Given the description of an element on the screen output the (x, y) to click on. 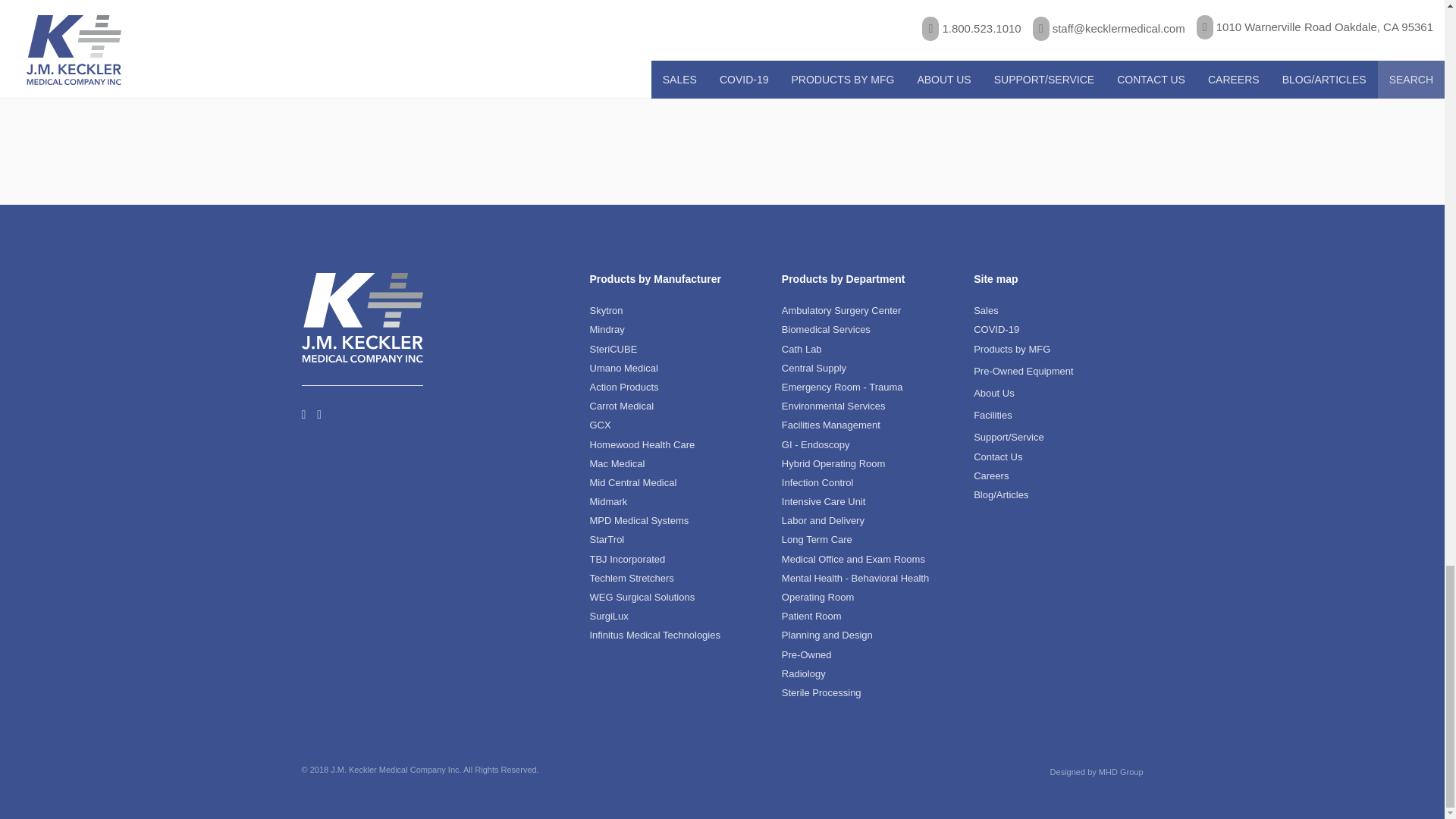
SteriCUBE (613, 348)
Umano Medical (623, 367)
Mindray (606, 328)
Skytron (606, 310)
Action Products (624, 387)
Carrot Medical (621, 405)
